Given the description of an element on the screen output the (x, y) to click on. 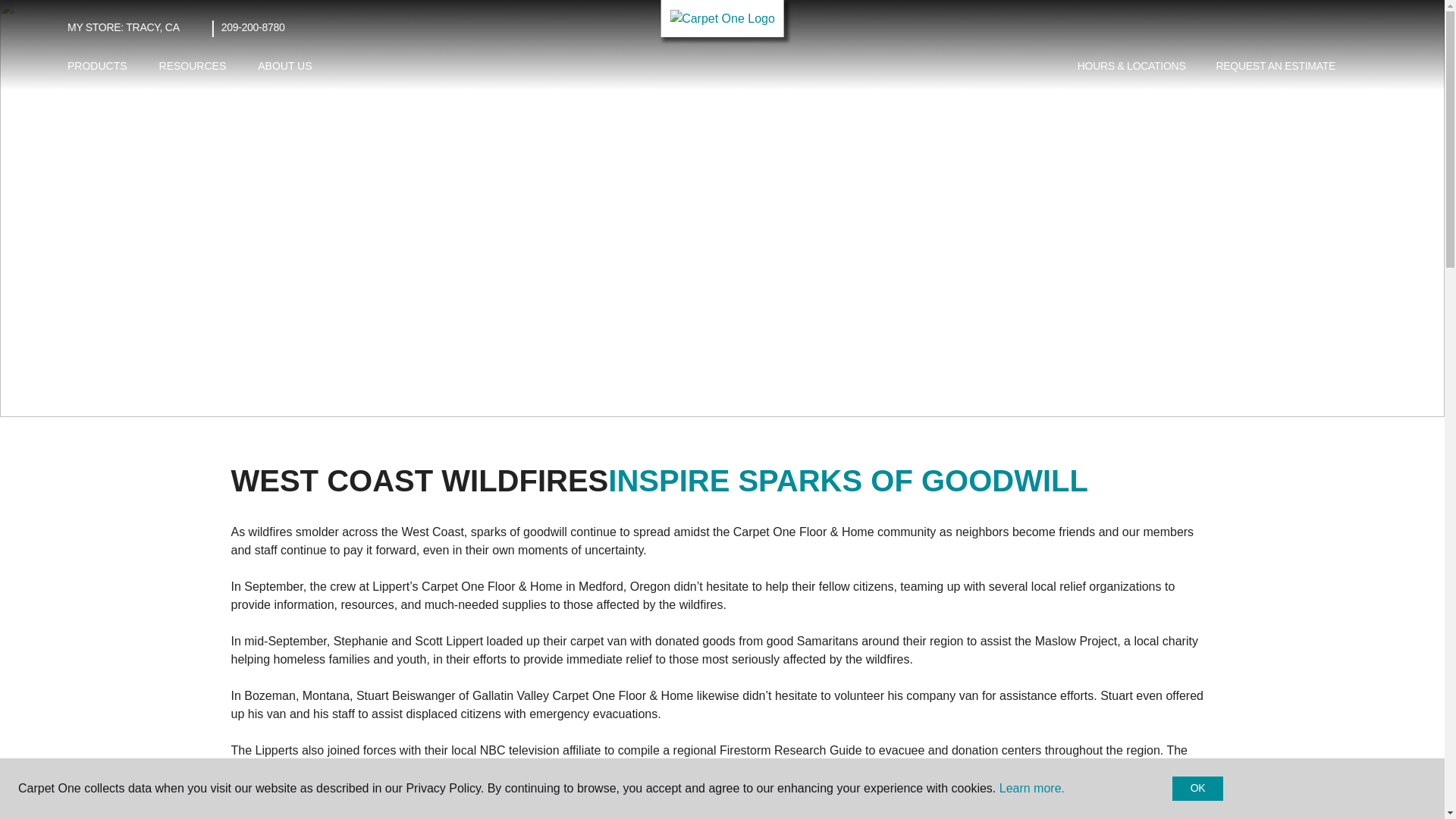
RESOURCES (193, 66)
PRODUCTS (97, 66)
MY STORE: TRACY, CA (122, 27)
ABOUT US (284, 66)
REQUEST AN ESTIMATE (1276, 66)
209-200-8780 (253, 27)
